Given the description of an element on the screen output the (x, y) to click on. 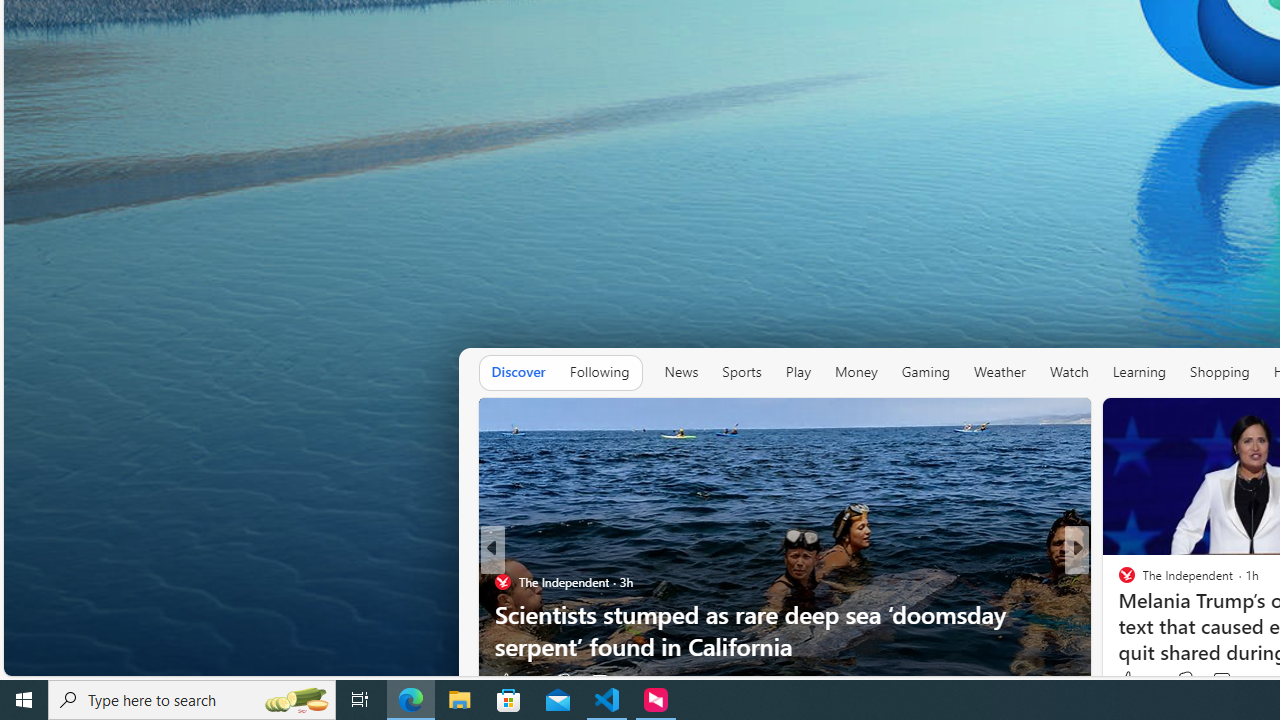
159 Like (1132, 681)
View comments 21 Comment (1223, 681)
5 Like (1125, 681)
235 Like (516, 681)
184 Like (1132, 681)
View comments 54 Comment (1223, 681)
176 Like (1132, 681)
View comments 21 Comment (1215, 681)
295 Like (1132, 681)
173 Like (1132, 681)
